Given the description of an element on the screen output the (x, y) to click on. 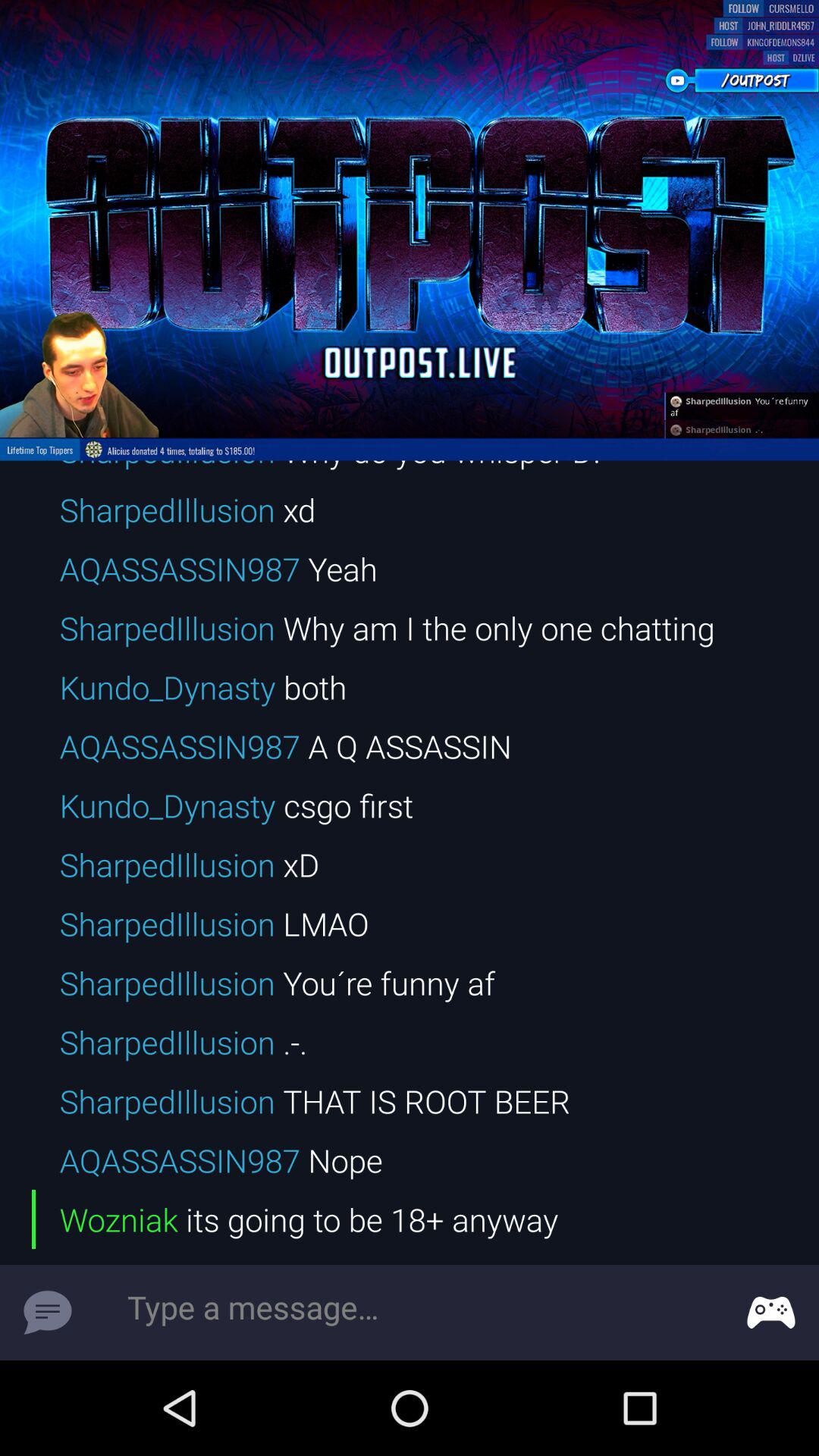
type a message (409, 1312)
